Given the description of an element on the screen output the (x, y) to click on. 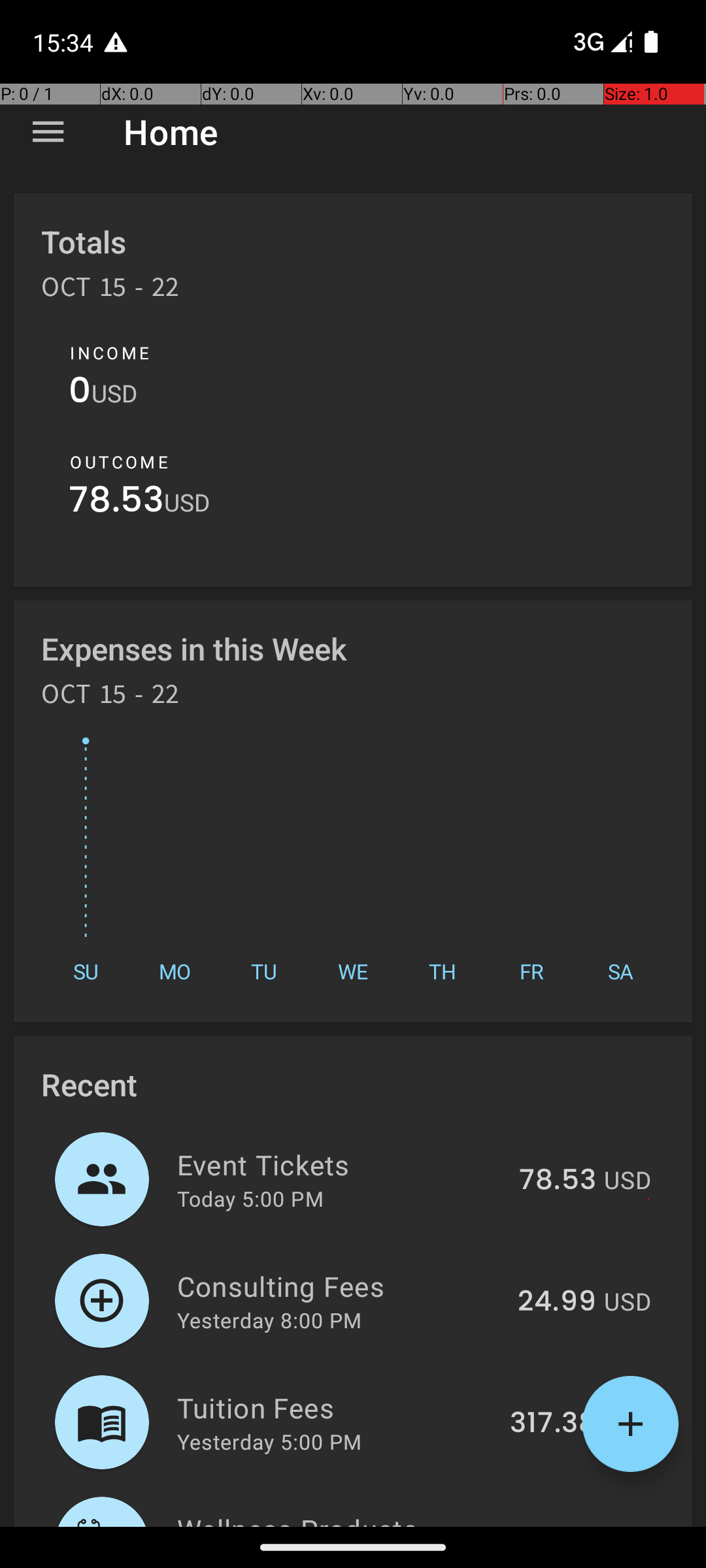
78.53 Element type: android.widget.TextView (116, 502)
Event Tickets Element type: android.widget.TextView (340, 1164)
Today 5:00 PM Element type: android.widget.TextView (250, 1198)
Consulting Fees Element type: android.widget.TextView (339, 1285)
Yesterday 8:00 PM Element type: android.widget.TextView (269, 1320)
24.99 Element type: android.widget.TextView (556, 1301)
Tuition Fees Element type: android.widget.TextView (335, 1407)
Yesterday 5:00 PM Element type: android.widget.TextView (269, 1441)
317.38 Element type: android.widget.TextView (552, 1423)
Wellness Products Element type: android.widget.TextView (329, 1518)
499.89 Element type: android.widget.TextView (546, 1524)
